Given the description of an element on the screen output the (x, y) to click on. 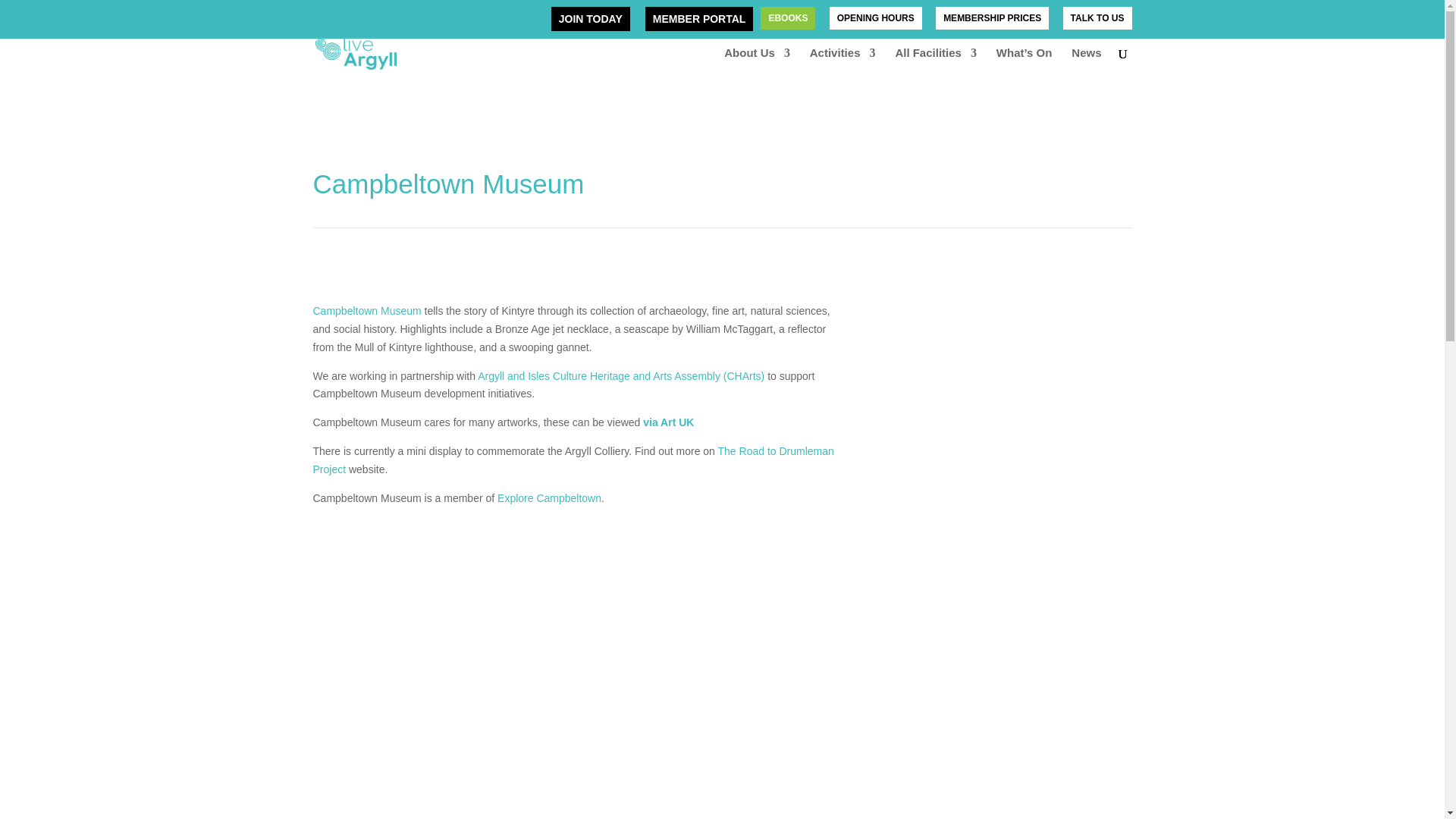
Campbeltown Museum (366, 310)
JOIN TODAY (590, 18)
EBOOKS (788, 21)
via Art UK (668, 422)
Activities (842, 65)
OPENING HOURS (875, 21)
All Facilities (935, 65)
Explore Campbeltown (549, 498)
TALK TO US (1097, 21)
About Us (756, 65)
